Given the description of an element on the screen output the (x, y) to click on. 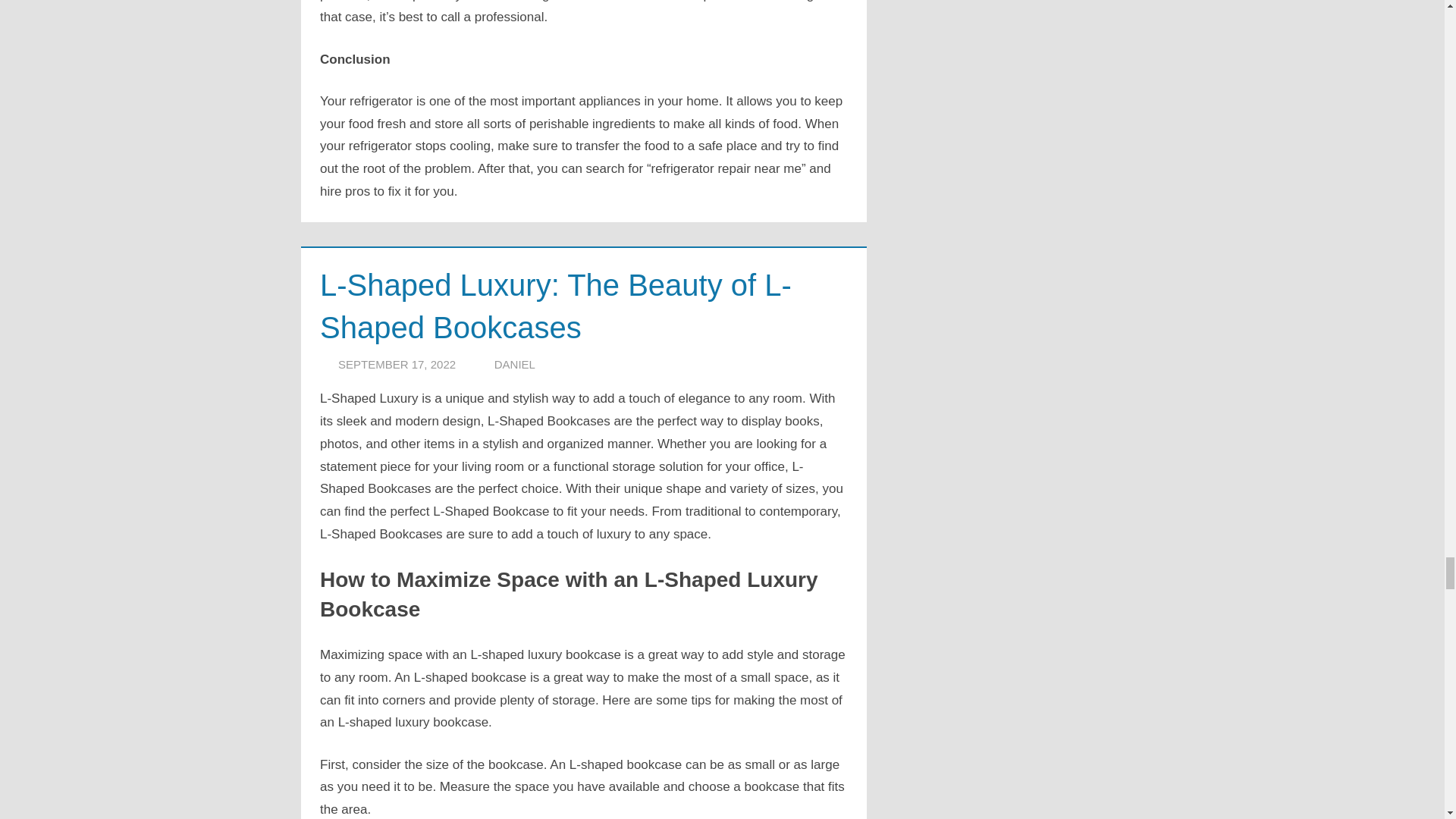
View all posts by Daniel (515, 364)
DANIEL (515, 364)
L-Shaped Luxury: The Beauty of L-Shaped Bookcases (556, 305)
7:00 pm (396, 364)
SEPTEMBER 17, 2022 (396, 364)
